Given the description of an element on the screen output the (x, y) to click on. 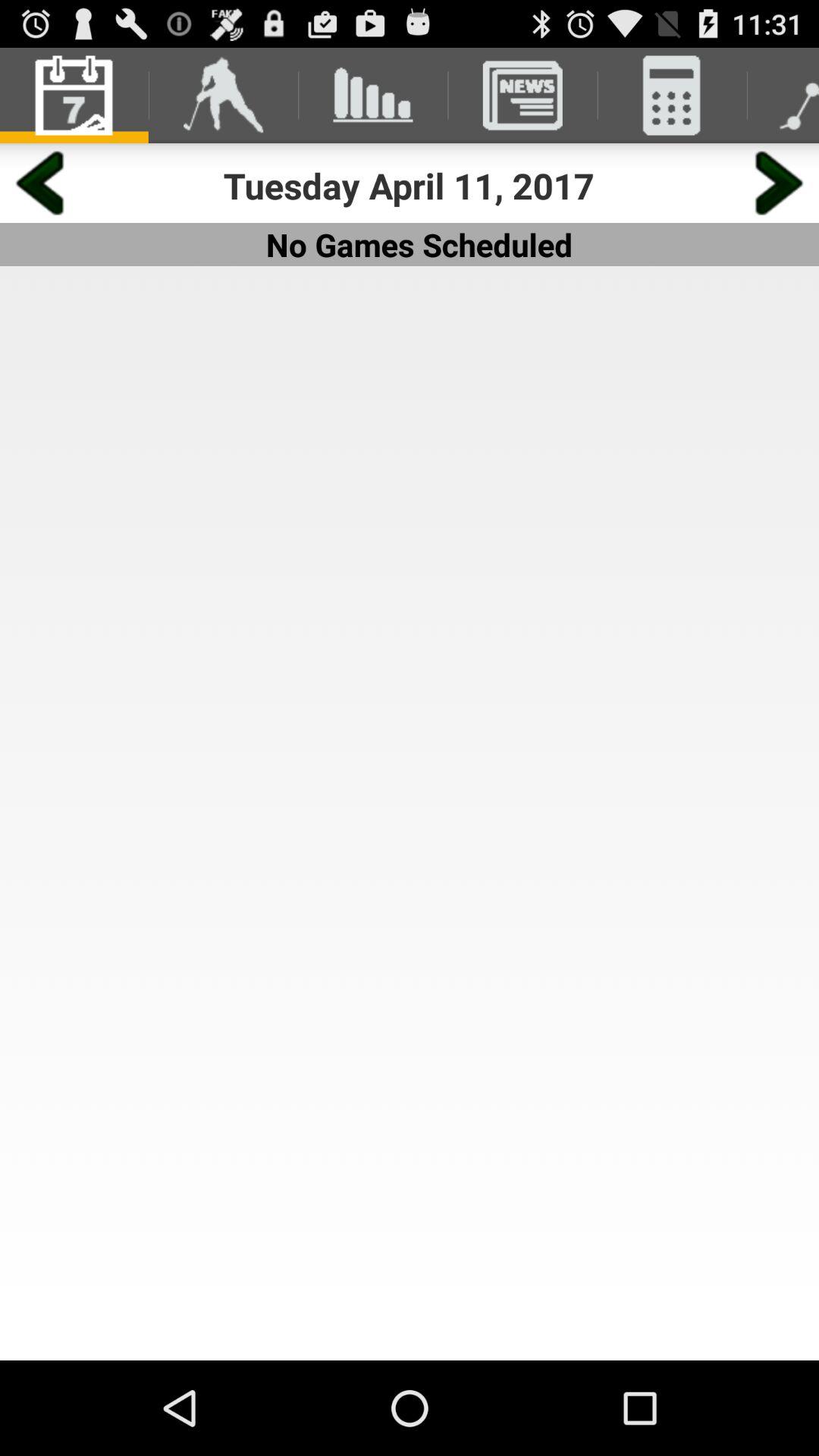
scroll date left (39, 182)
